Given the description of an element on the screen output the (x, y) to click on. 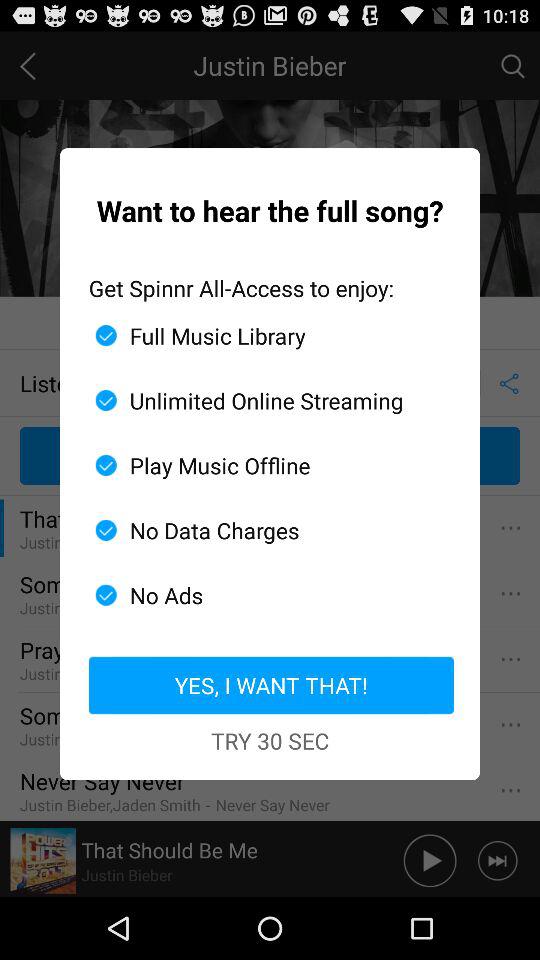
flip to the no ads app (261, 595)
